Given the description of an element on the screen output the (x, y) to click on. 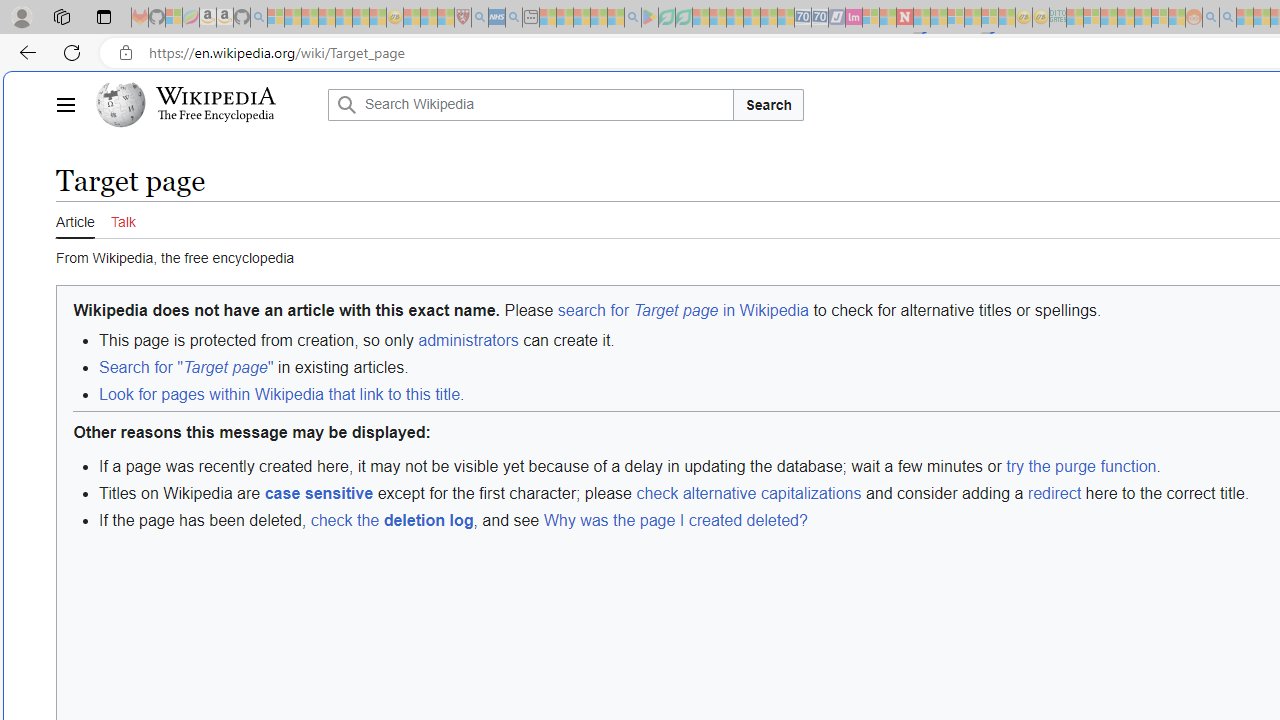
MSNBC - MSN - Sleeping (1074, 17)
Search Wikipedia (530, 104)
NCL Adult Asthma Inhaler Choice Guideline - Sleeping (497, 17)
Microsoft-Report a Concern to Bing - Sleeping (173, 17)
Robert H. Shmerling, MD - Harvard Health - Sleeping (462, 17)
Wikipedia The Free Encyclopedia (206, 104)
Talk (122, 219)
DITOGAMES AG Imprint - Sleeping (1057, 17)
Search for "Target page" (185, 368)
New Report Confirms 2023 Was Record Hot | Watch - Sleeping (343, 17)
Cheap Car Rentals - Save70.com - Sleeping (802, 17)
